Given the description of an element on the screen output the (x, y) to click on. 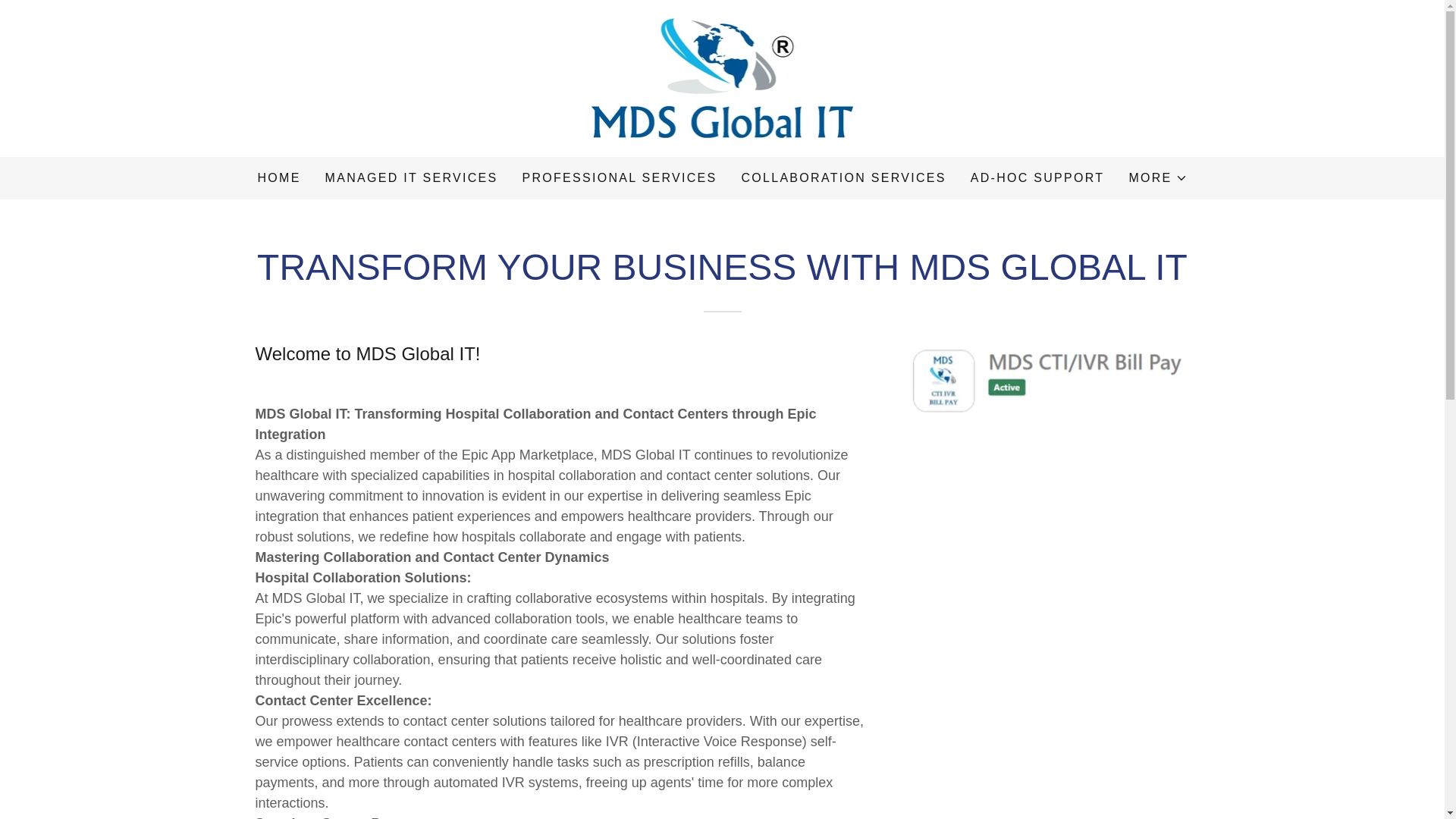
HOME (277, 177)
AD-HOC SUPPORT (1037, 177)
MORE (1157, 177)
MANAGED IT SERVICES (411, 177)
COLLABORATION SERVICES (843, 177)
MDS Global IT (722, 77)
PROFESSIONAL SERVICES (618, 177)
